Given the description of an element on the screen output the (x, y) to click on. 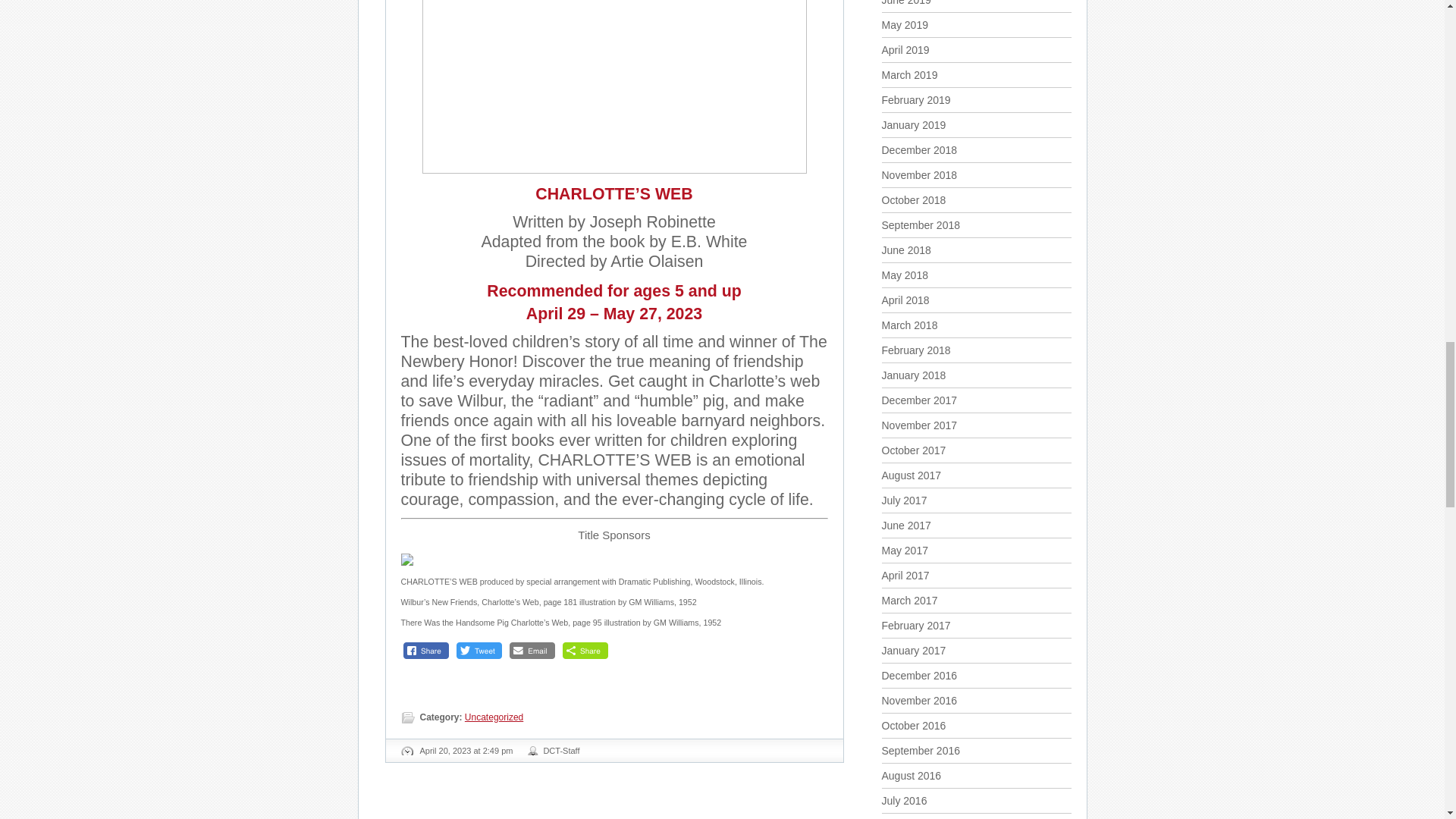
DCT-Staff (561, 750)
April 20, 2023 at 2:49 pm (466, 750)
Uncategorized (493, 716)
